Given the description of an element on the screen output the (x, y) to click on. 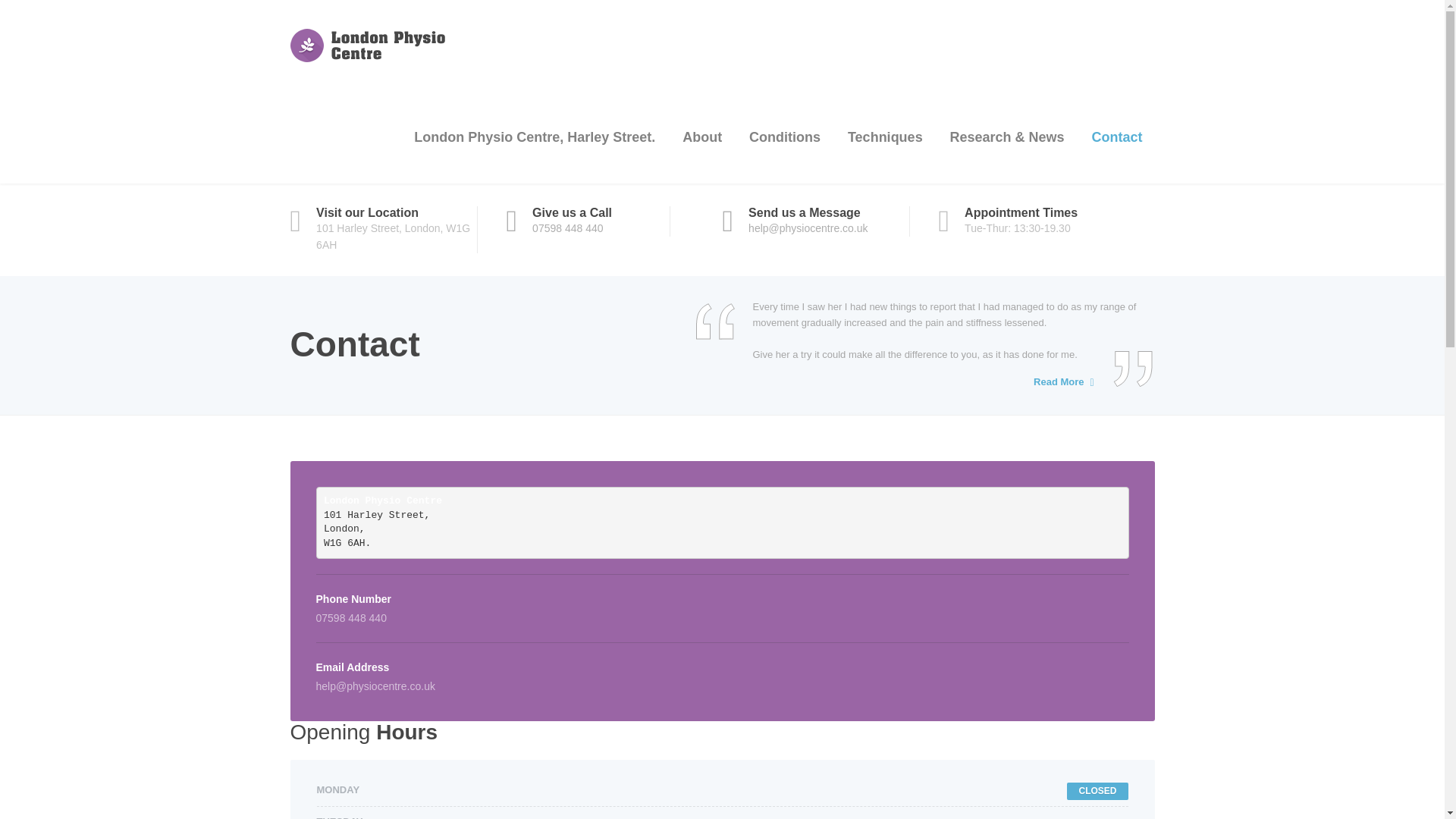
07598 448 440 (567, 227)
Conditions (784, 136)
Techniques (884, 136)
London Physio Centre (379, 39)
Read More (1058, 382)
London Physio Centre, Harley Street. (533, 136)
